Given the description of an element on the screen output the (x, y) to click on. 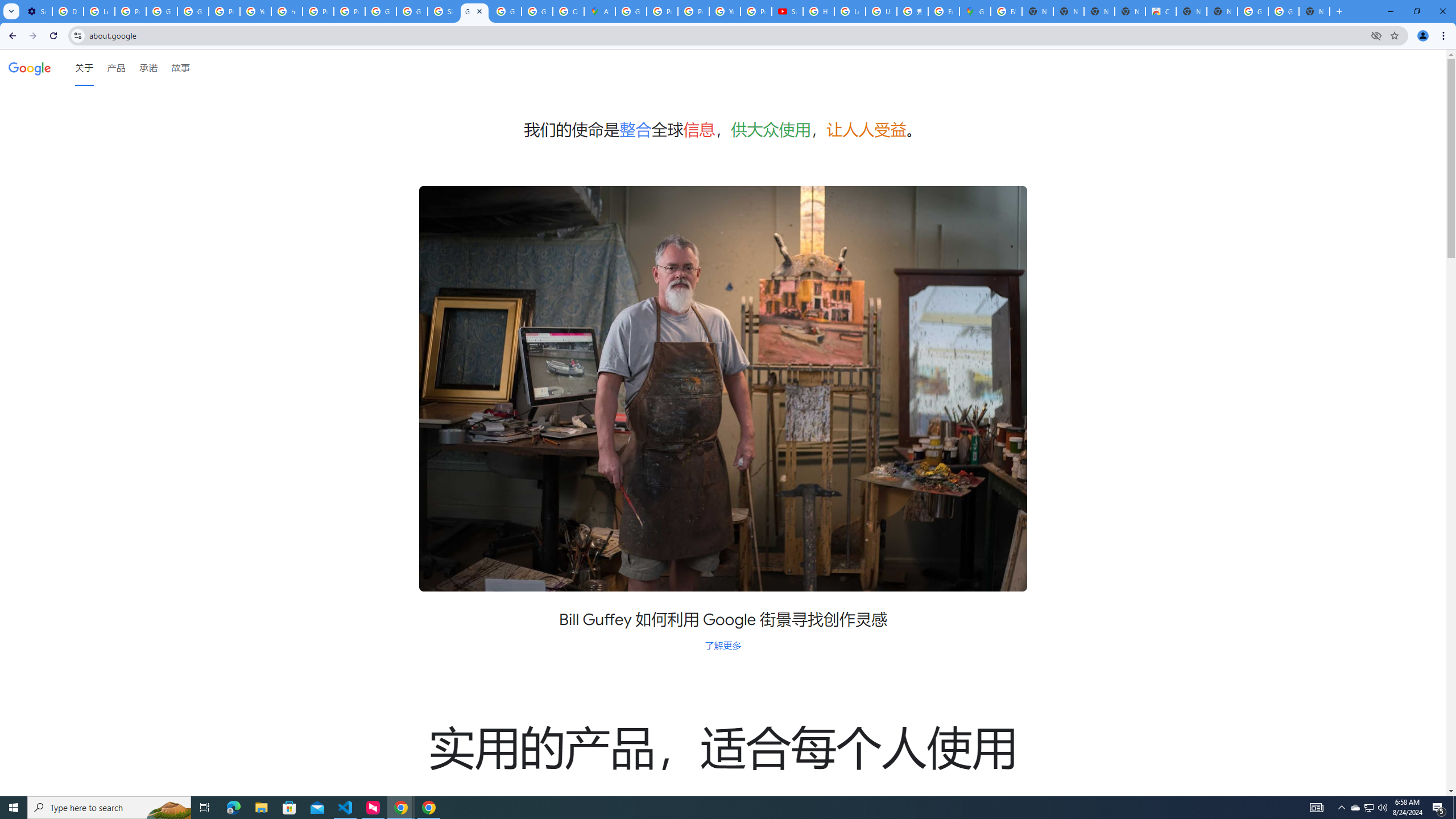
Chrome Web Store (1160, 11)
YouTube (724, 11)
Privacy Help Center - Policies Help (662, 11)
Google Images (1283, 11)
YouTube (255, 11)
Google Images (1252, 11)
New Tab (1314, 11)
